Given the description of an element on the screen output the (x, y) to click on. 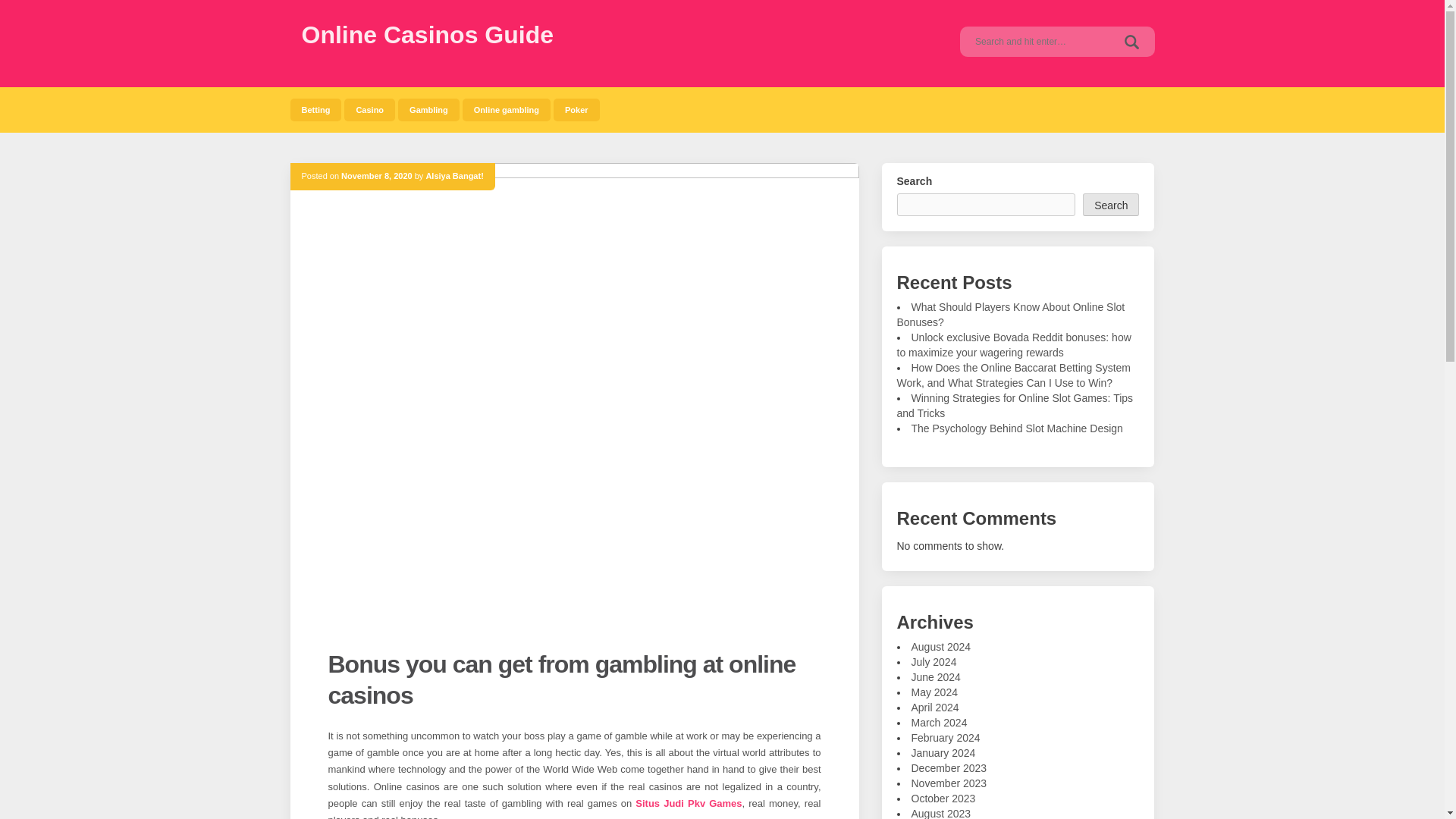
May 2024 (934, 692)
Poker (576, 109)
December 2023 (949, 767)
August 2023 (941, 813)
January 2024 (943, 752)
Online Casinos Guide (427, 34)
Betting (314, 109)
Gambling (428, 109)
Betting (314, 109)
April 2024 (935, 707)
